Given the description of an element on the screen output the (x, y) to click on. 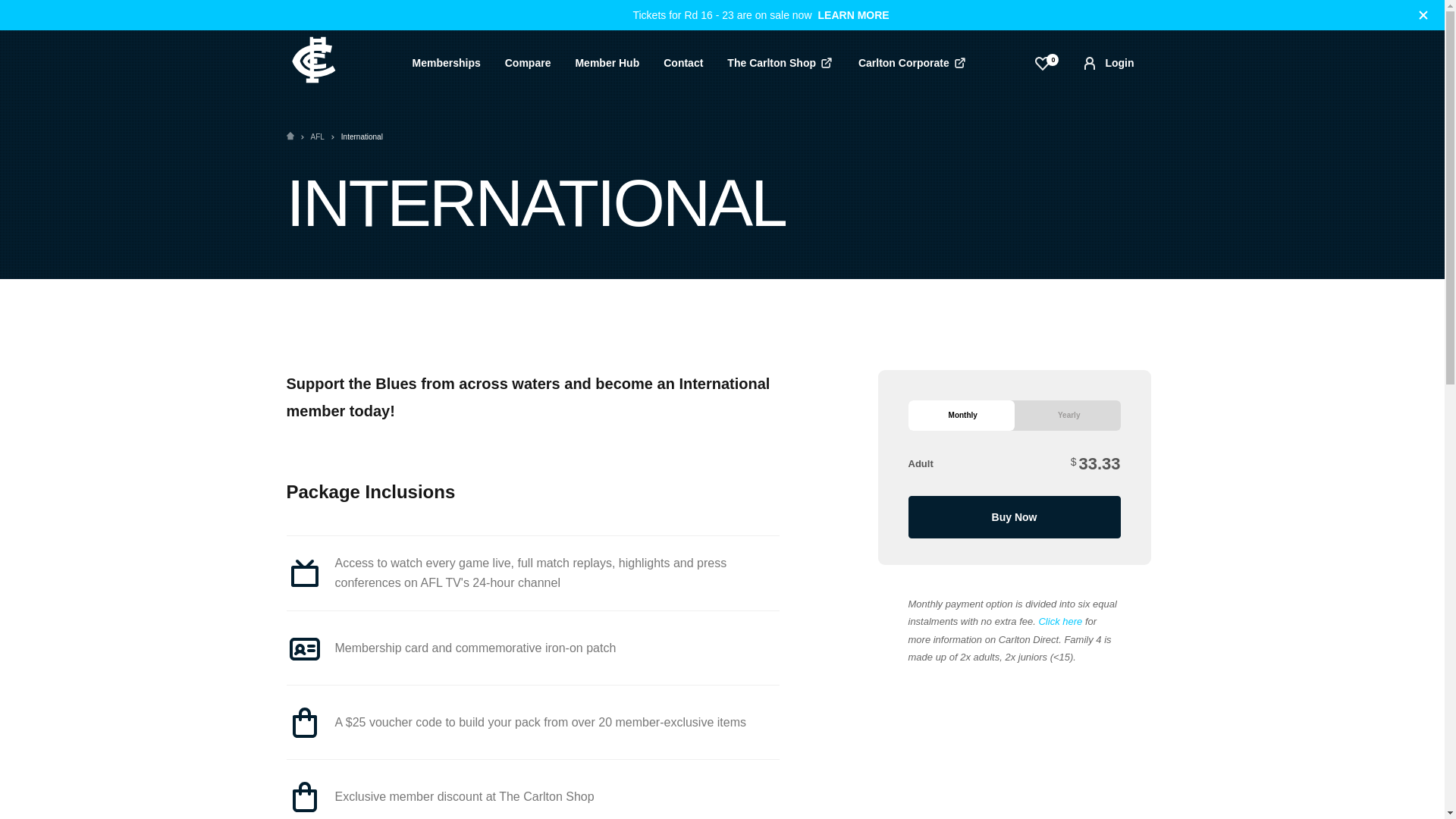
Member Hub (606, 62)
Contact (682, 62)
Carlton Corporate (912, 63)
Buy Now (1014, 517)
Compare (528, 62)
International (361, 136)
LEARN MORE (853, 15)
0 (1043, 63)
Click here (1059, 621)
The Carlton Shop (779, 63)
Login (1107, 63)
AFL (317, 136)
Memberships (446, 62)
